Given the description of an element on the screen output the (x, y) to click on. 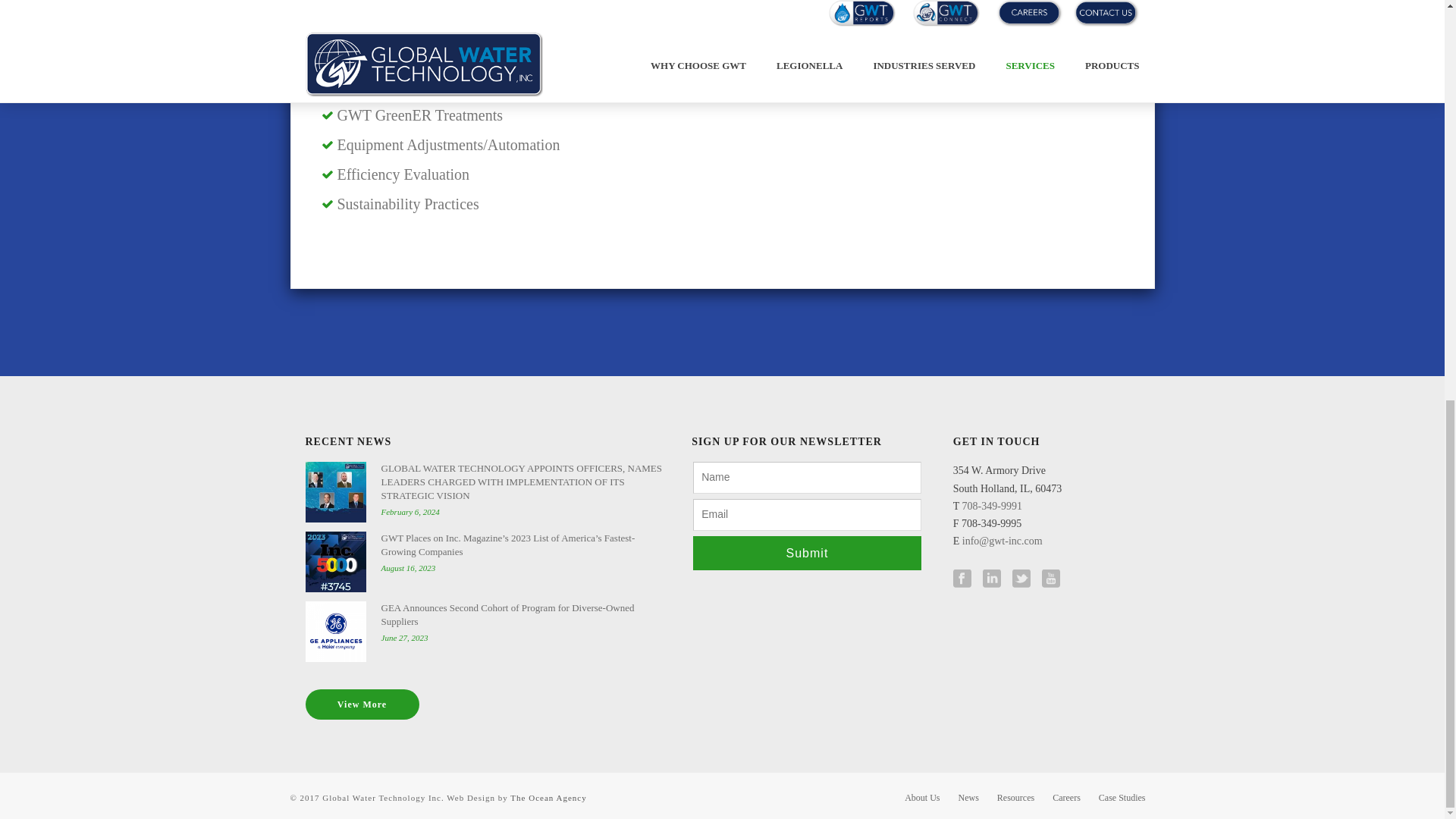
Follow Us on linkedin (991, 579)
Follow Us on youtube (1050, 579)
Follow Us on twitter (1020, 579)
View More (361, 704)
Follow Us on facebook (962, 579)
